Given the description of an element on the screen output the (x, y) to click on. 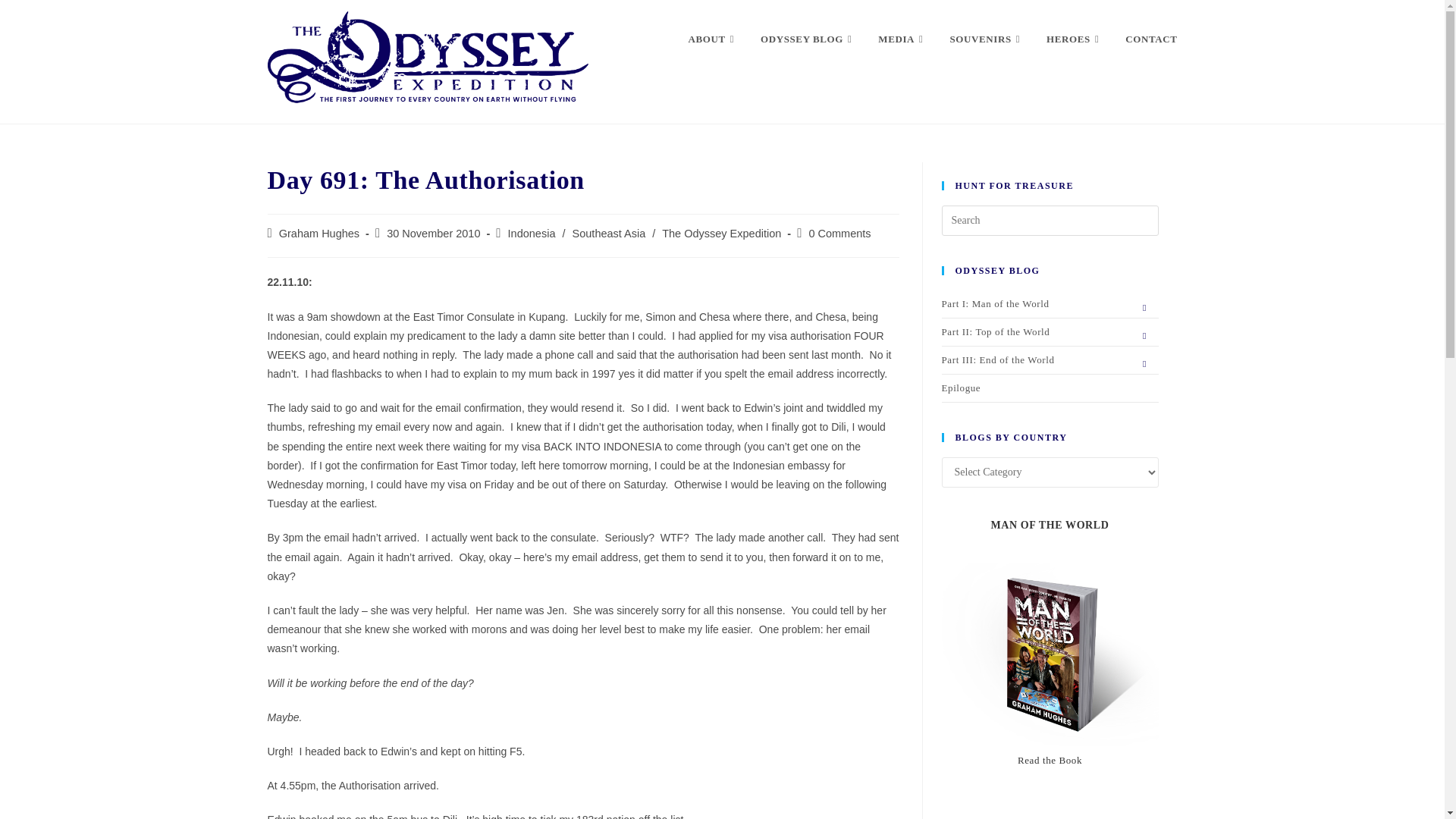
Posts by Graham Hughes (319, 233)
MEDIA (901, 39)
ABOUT (713, 39)
ODYSSEY BLOG (807, 39)
